Given the description of an element on the screen output the (x, y) to click on. 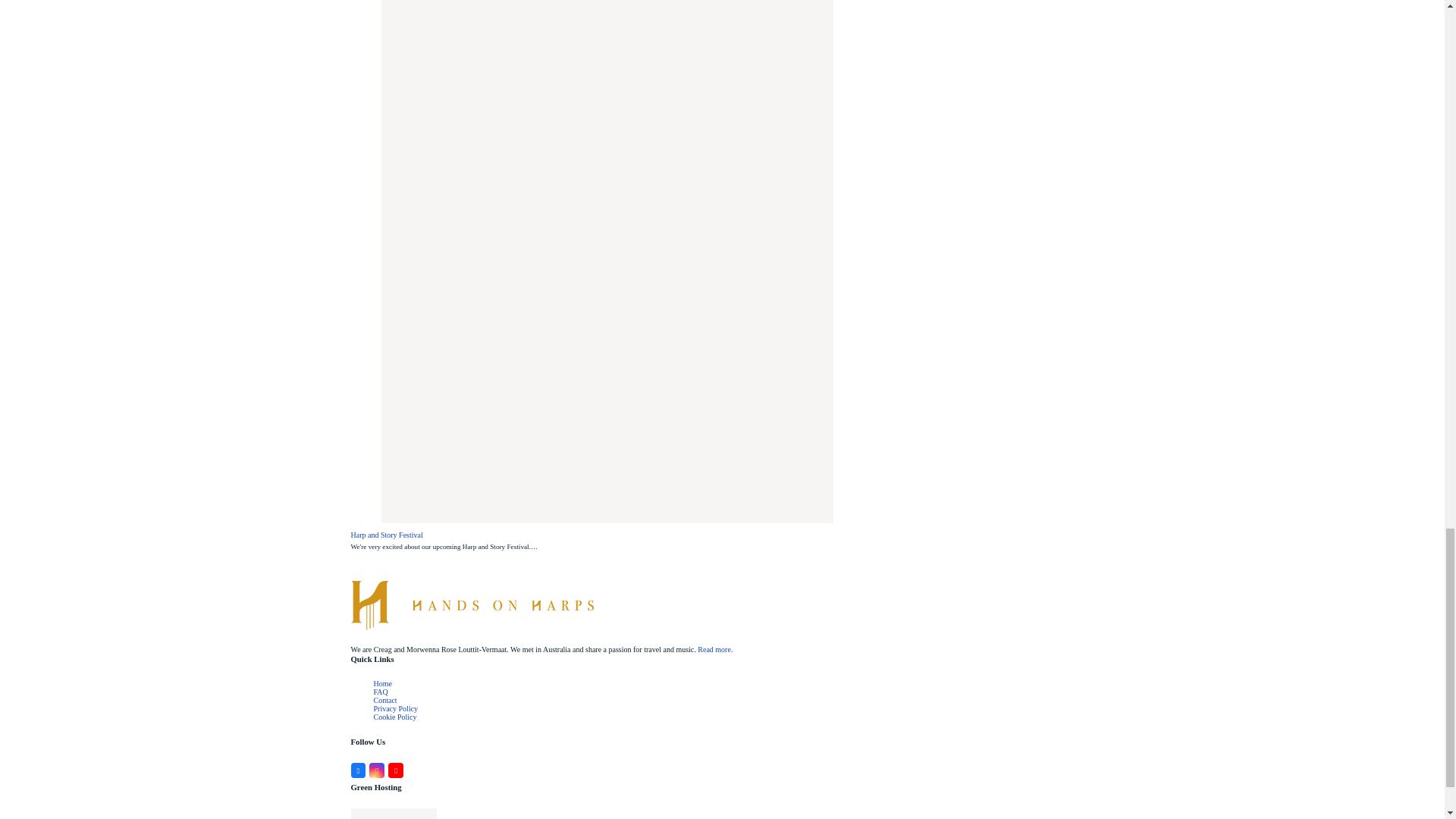
YouTube (395, 770)
Harp and Story Festival (606, 202)
Instagram (376, 770)
Facebook (357, 770)
